Given the description of an element on the screen output the (x, y) to click on. 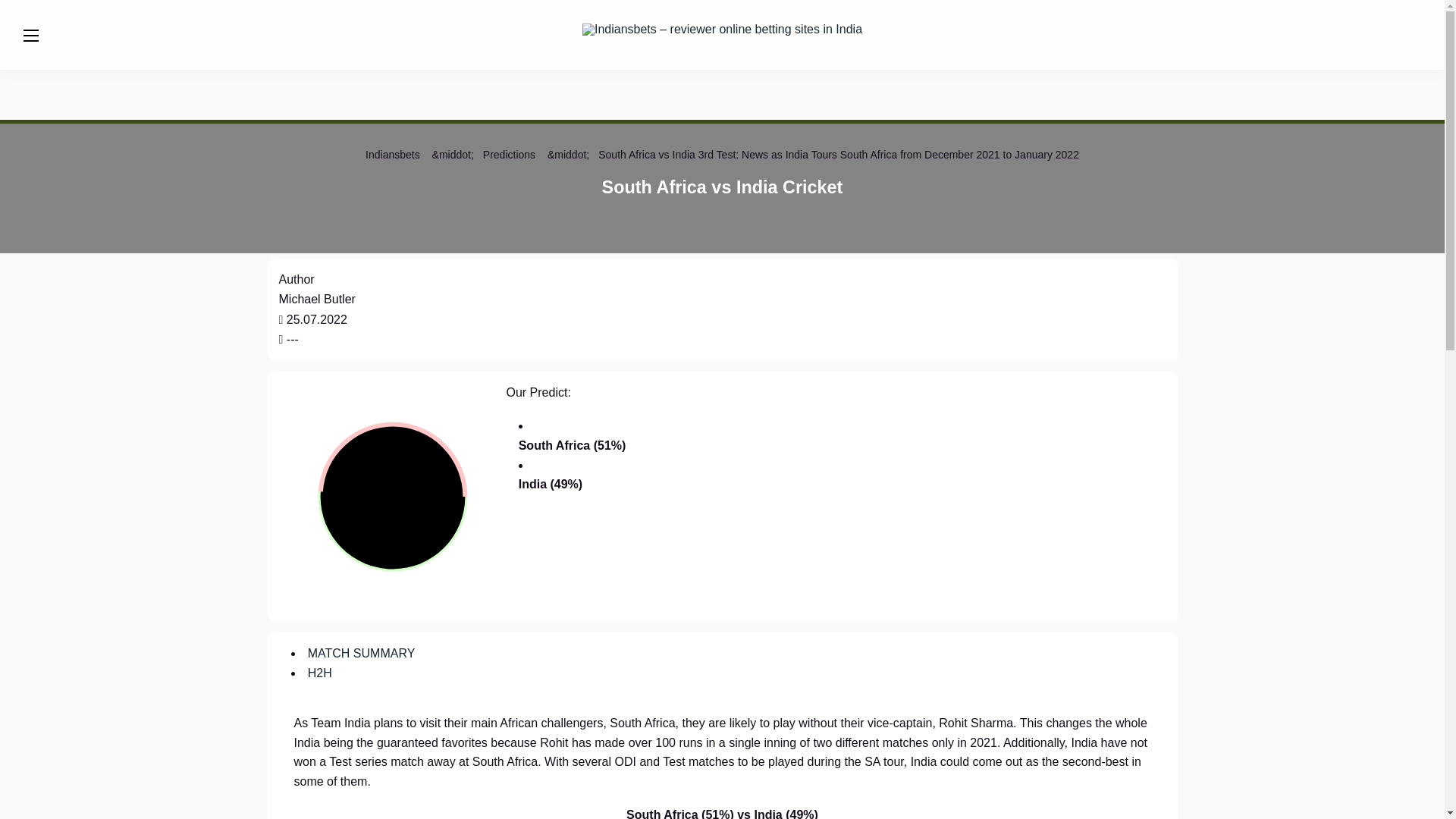
Indiansbets (392, 154)
H2H (319, 672)
BETTING APPS (632, 27)
Predictions (509, 154)
MATCH SUMMARY (360, 653)
